Given the description of an element on the screen output the (x, y) to click on. 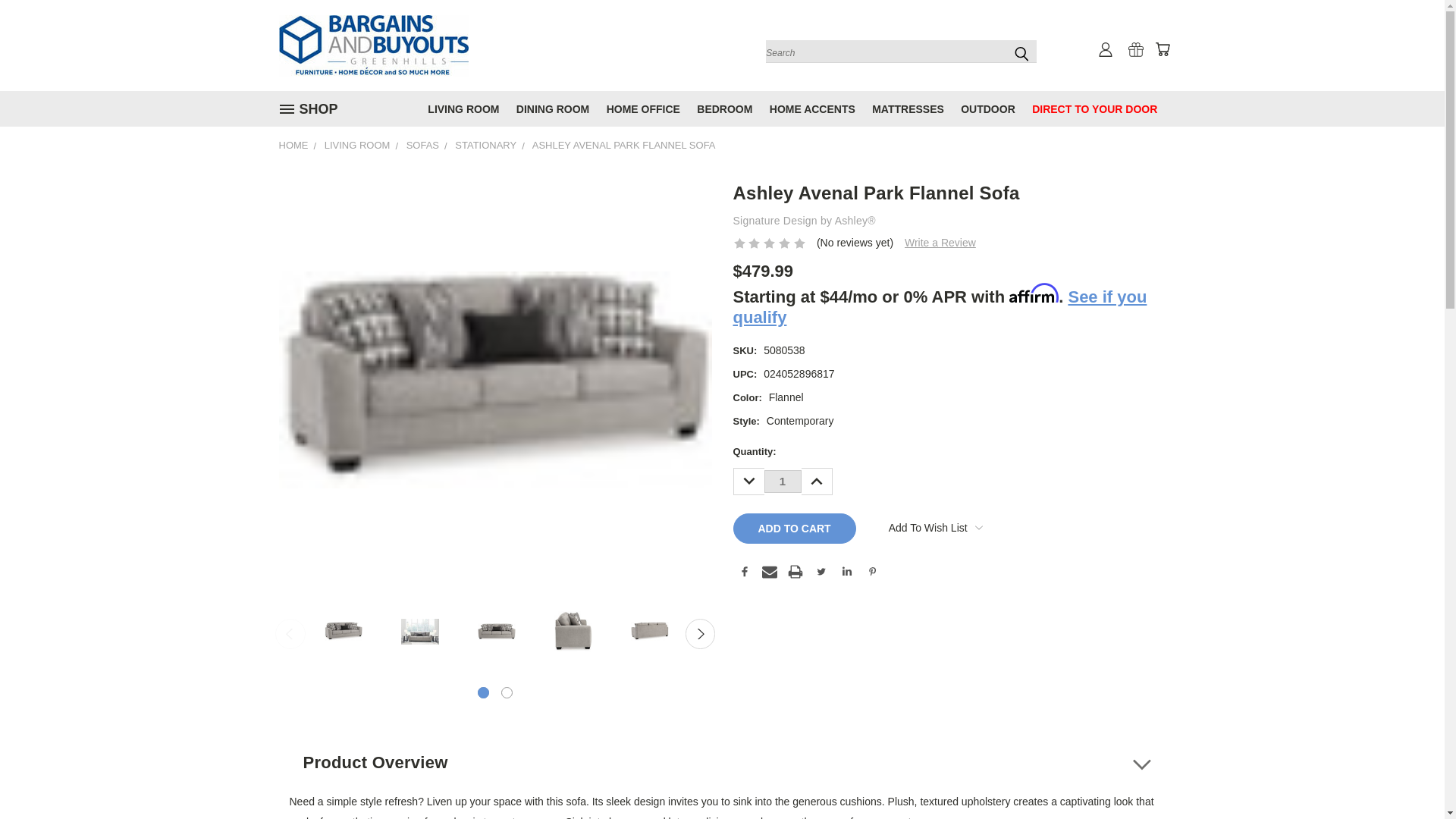
SHOP (312, 109)
Add to Cart (794, 528)
Gift Certificates (1135, 48)
Submit Search (1021, 53)
Bargains and Buyouts (373, 45)
1 (783, 481)
Affirm (721, 775)
User Toolbox (1105, 48)
Ashley Avenal Park Flannel Sofa (495, 379)
